Given the description of an element on the screen output the (x, y) to click on. 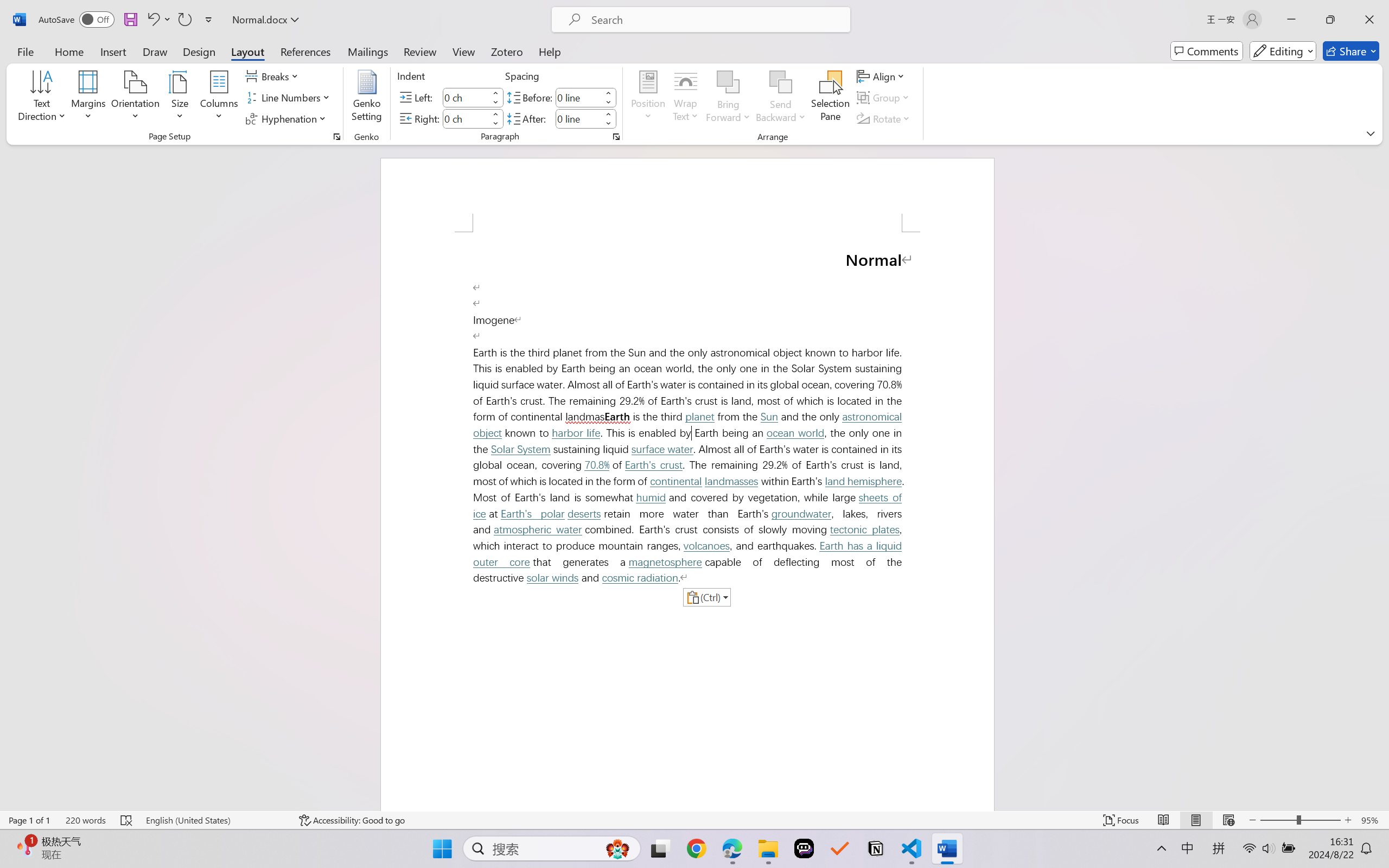
deserts (584, 513)
Indent Right (465, 118)
atmospheric water (537, 529)
Position (647, 97)
Earth's crust (653, 465)
Microsoft search (715, 19)
planet (698, 416)
Selection Pane... (830, 97)
